Given the description of an element on the screen output the (x, y) to click on. 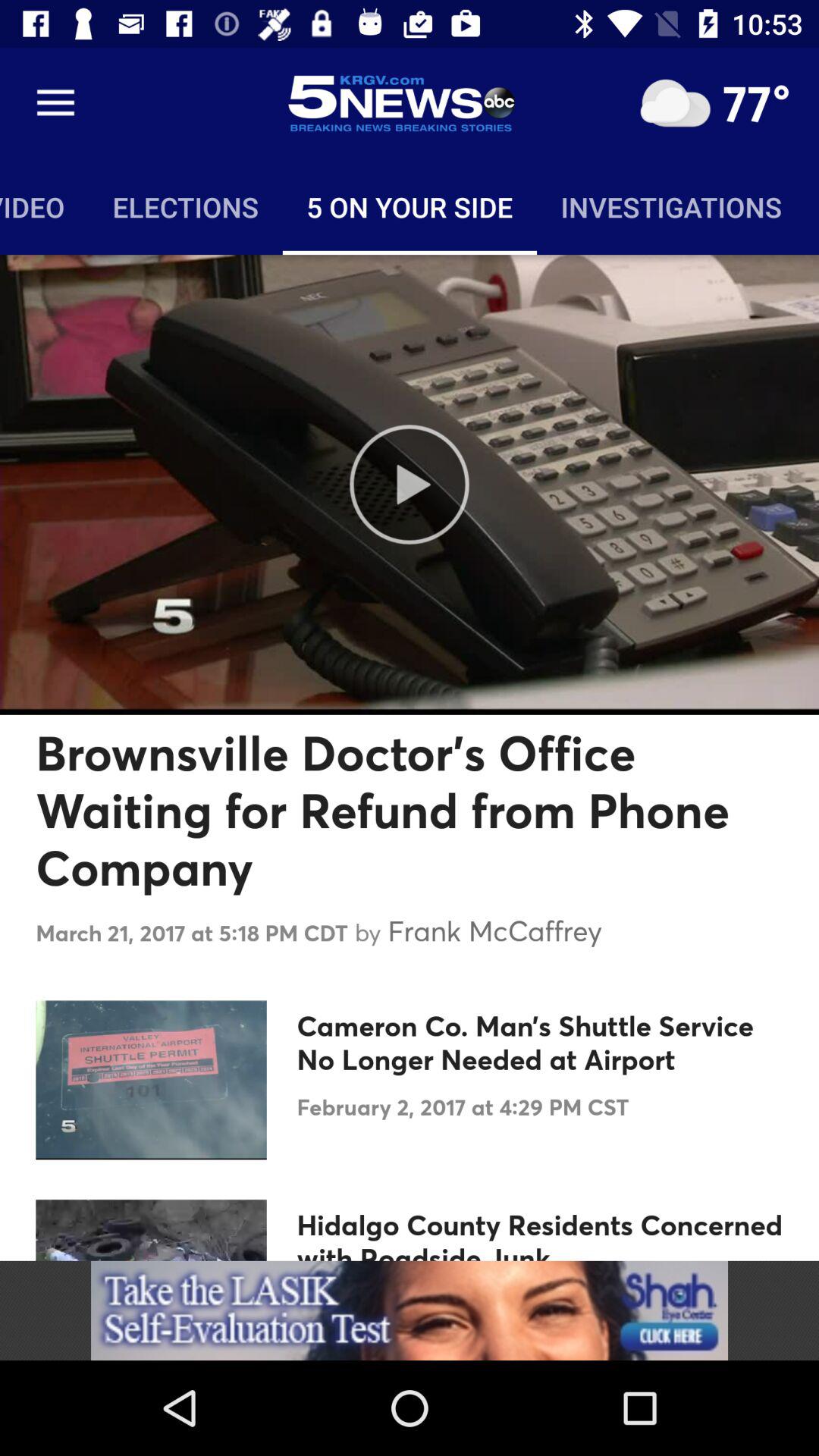
select the 2nd image (151, 1079)
select the image on left side of text hidalgo (151, 1229)
